Given the description of an element on the screen output the (x, y) to click on. 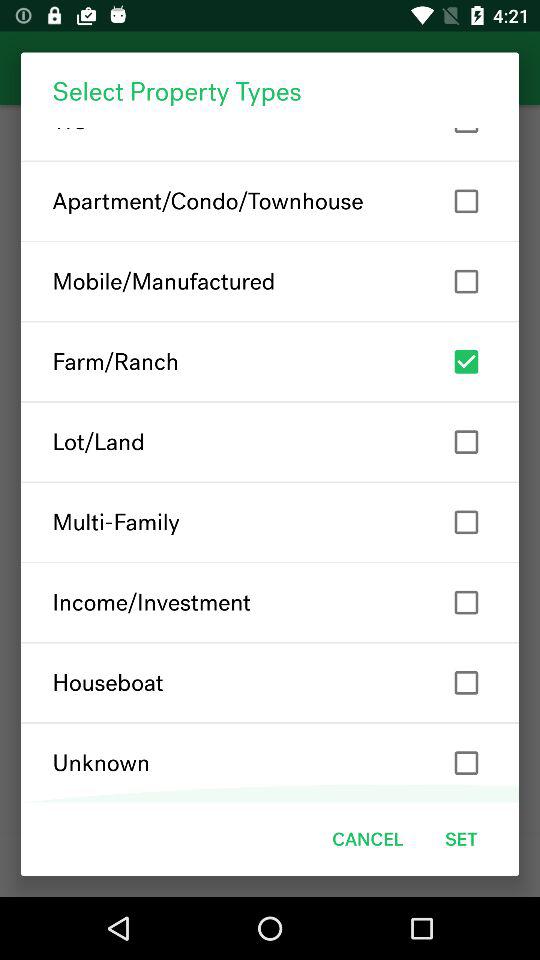
press the icon above cancel (270, 762)
